Given the description of an element on the screen output the (x, y) to click on. 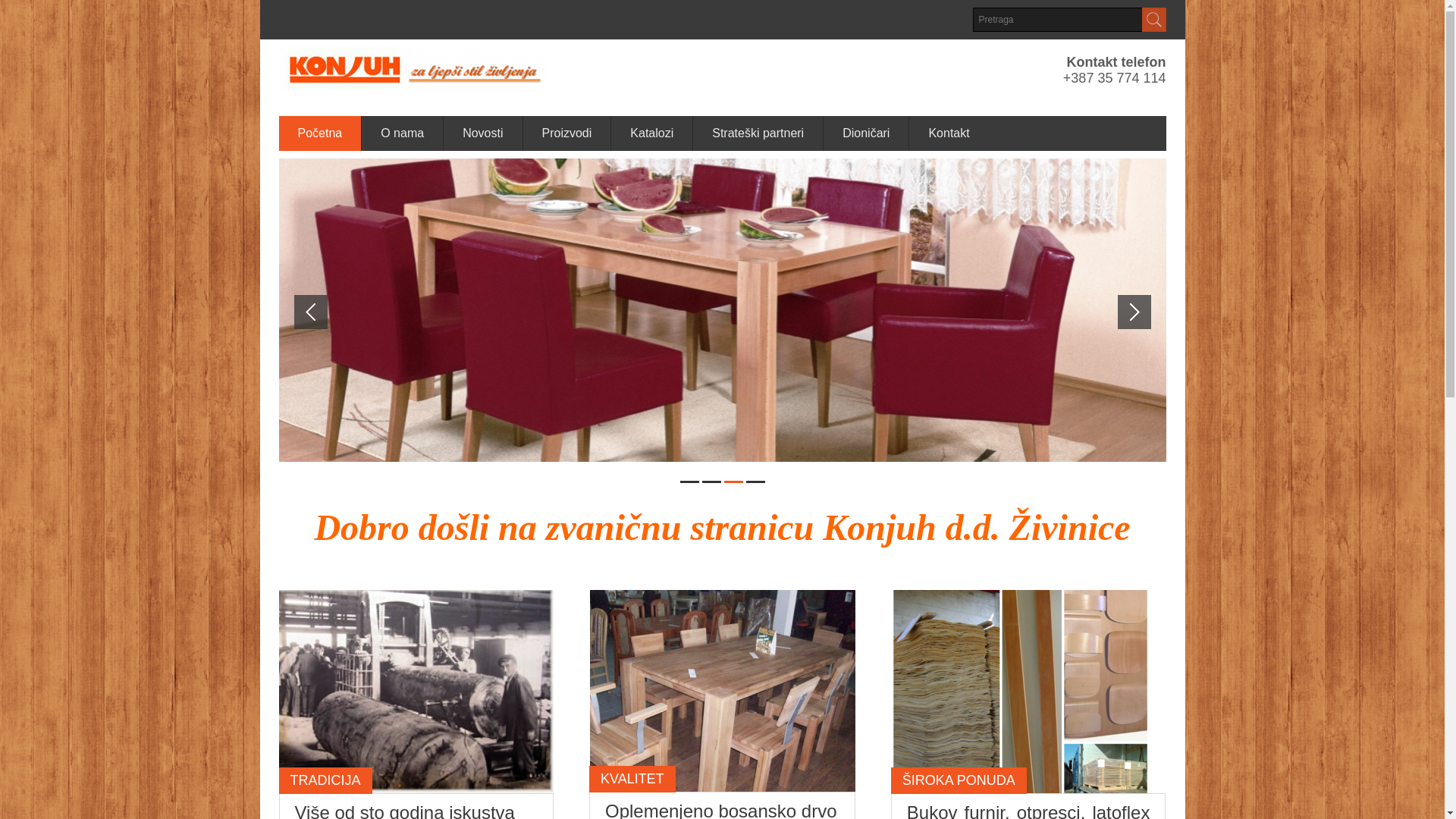
4 Element type: text (755, 481)
3 Element type: text (732, 481)
Novosti Element type: text (482, 133)
Katalozi Element type: text (652, 133)
2 Element type: text (711, 481)
Kontakt Element type: text (948, 133)
1 Element type: text (688, 481)
O nama Element type: text (402, 133)
Proizvodi Element type: text (567, 133)
